Given the description of an element on the screen output the (x, y) to click on. 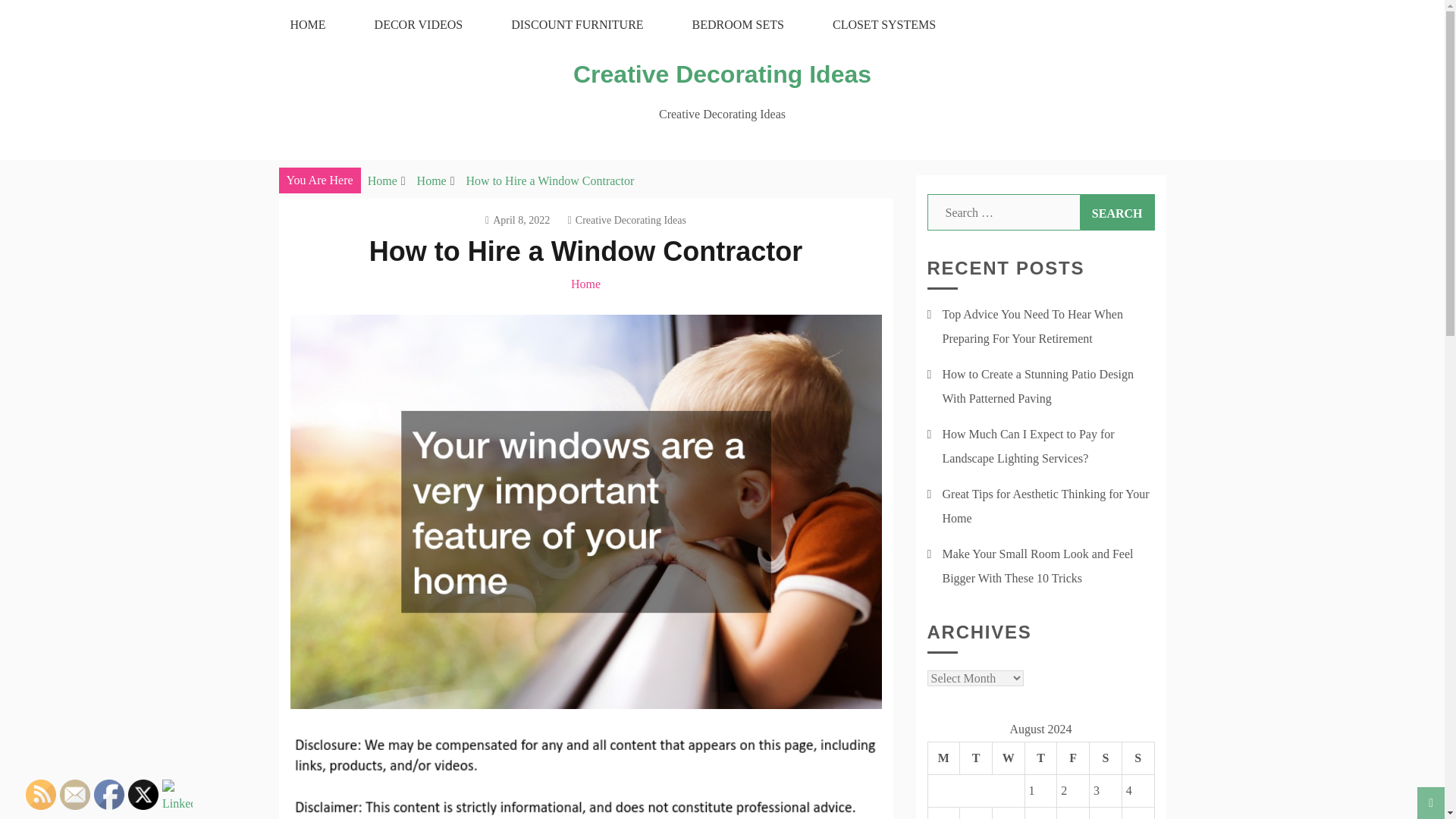
Wednesday (1008, 757)
Search (1117, 212)
Friday (1073, 757)
Home (431, 180)
Follow by Email (74, 794)
Great Tips for Aesthetic Thinking for Your Home (1045, 505)
Search (1117, 212)
Home (584, 283)
BEDROOM SETS (737, 24)
